Given the description of an element on the screen output the (x, y) to click on. 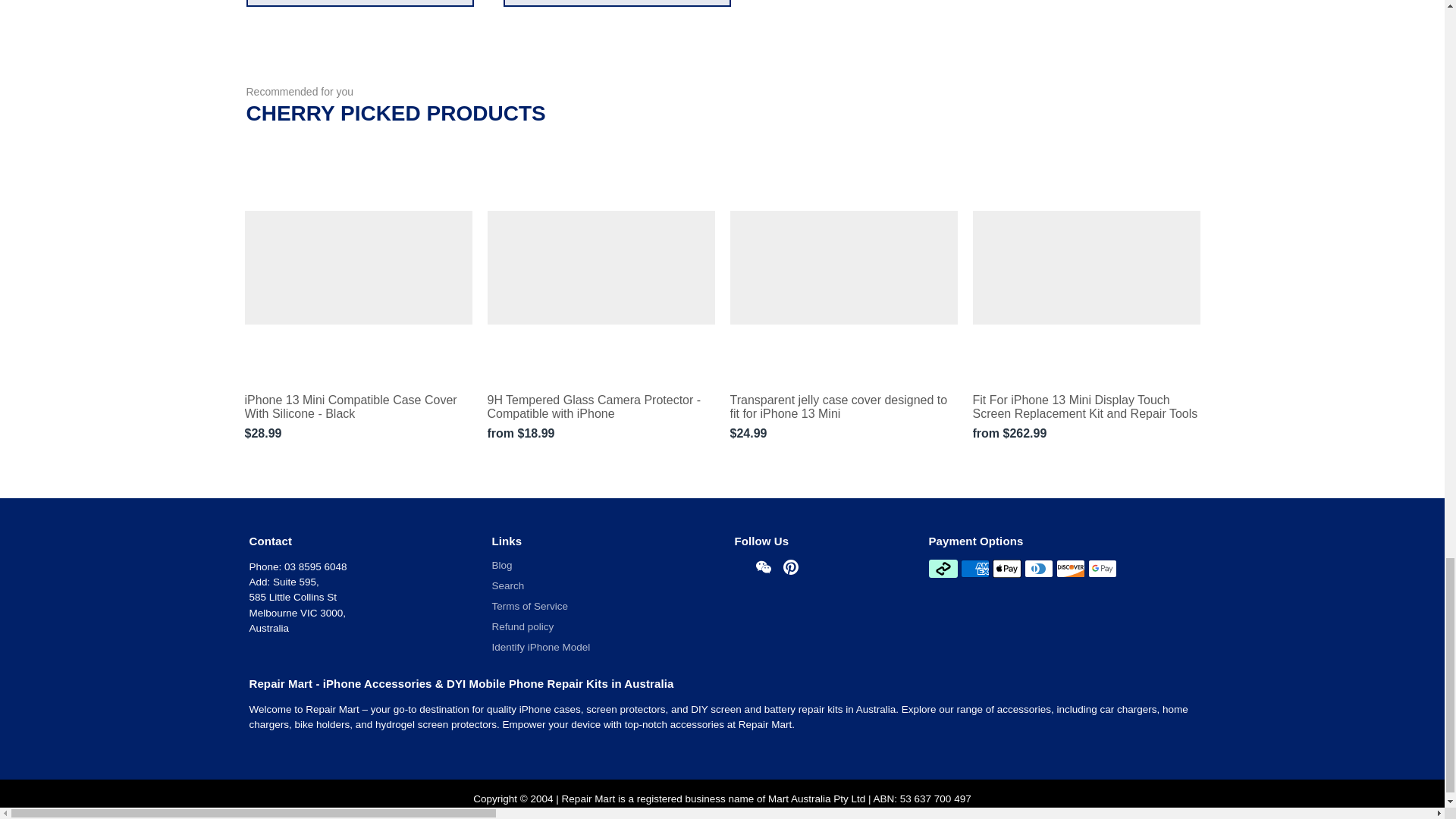
WeChat icon (762, 566)
Afterpay (942, 568)
iPhone 13 Mini Compatible Case Cover With Silicone - Black (357, 406)
Discover (1070, 568)
Apple Pay (1007, 568)
American Express (975, 568)
Diners Club (1038, 568)
Google Pay (1101, 568)
9H Tempered Glass Camera Protector - Compatible with iPhone (600, 406)
